Given the description of an element on the screen output the (x, y) to click on. 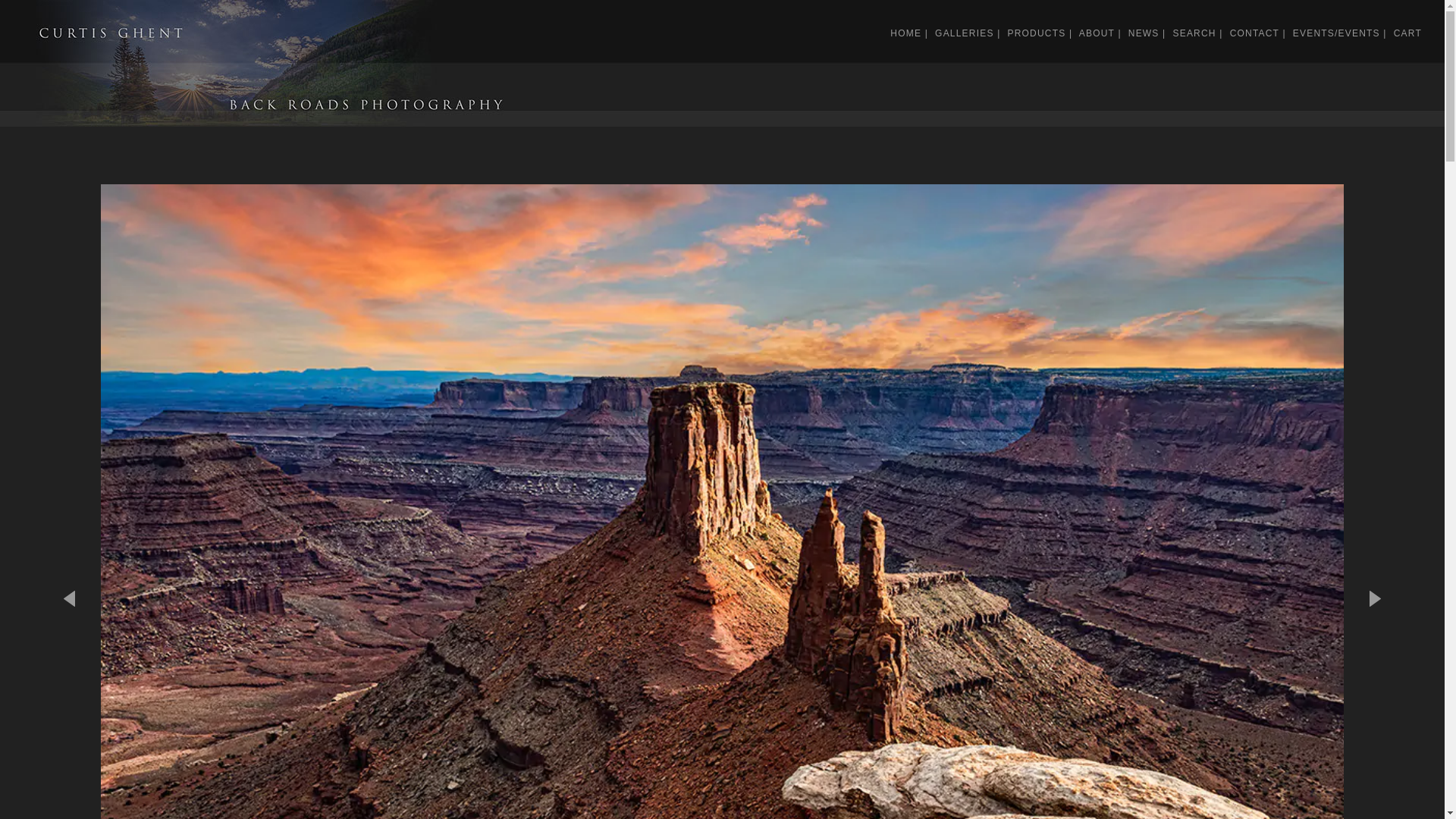
HOME (905, 32)
SEARCH (1193, 32)
CONTACT (1254, 32)
Previous Photo (78, 646)
PRODUCTS (1036, 32)
CART (1407, 32)
GALLERIES (964, 32)
NEWS (1143, 32)
ABOUT (1096, 32)
